Given the description of an element on the screen output the (x, y) to click on. 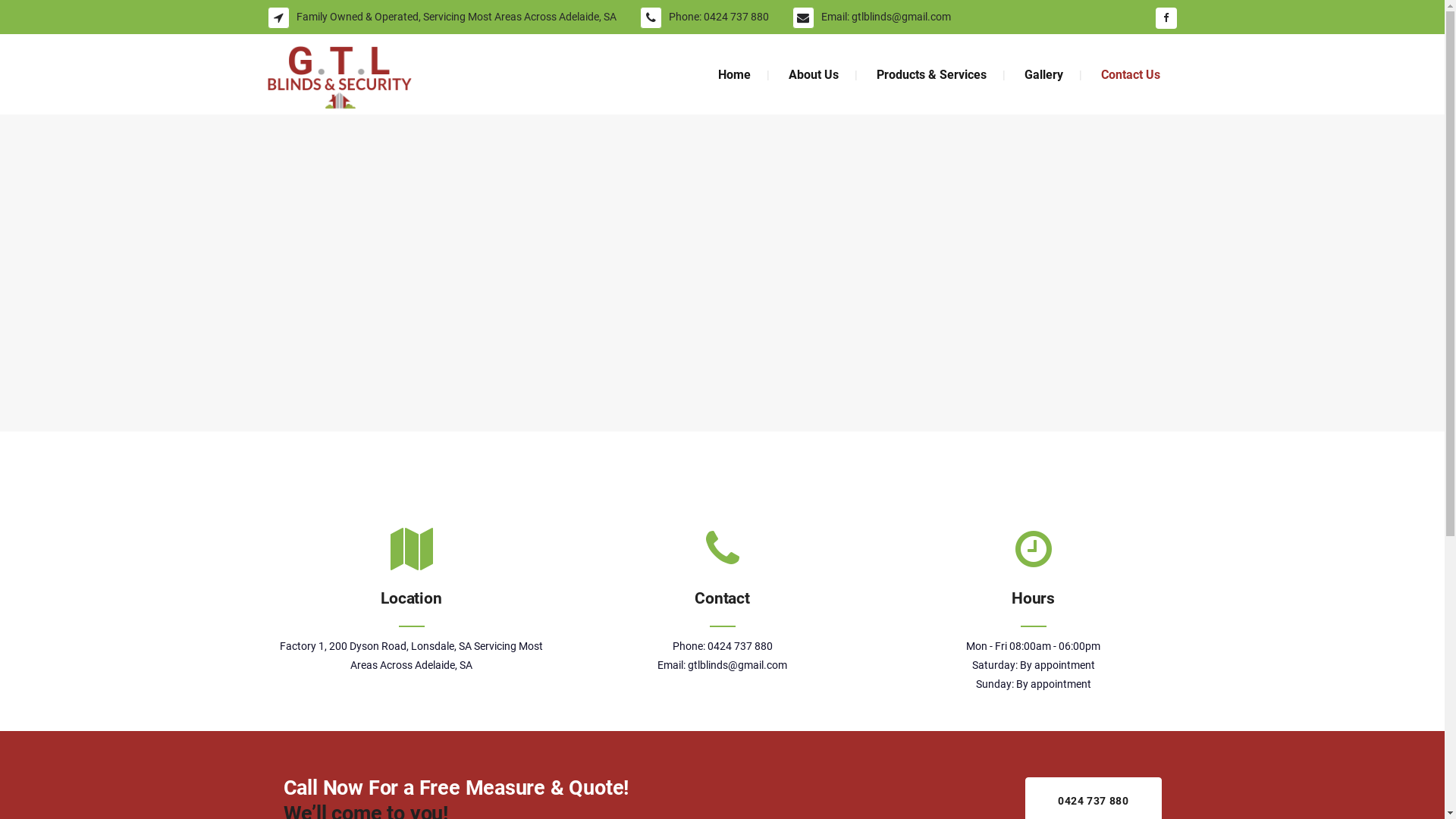
Products & Services Element type: text (930, 74)
Contact Us Element type: text (1129, 74)
Home Element type: text (734, 74)
Gallery Element type: text (1043, 74)
About Us Element type: text (812, 74)
